Given the description of an element on the screen output the (x, y) to click on. 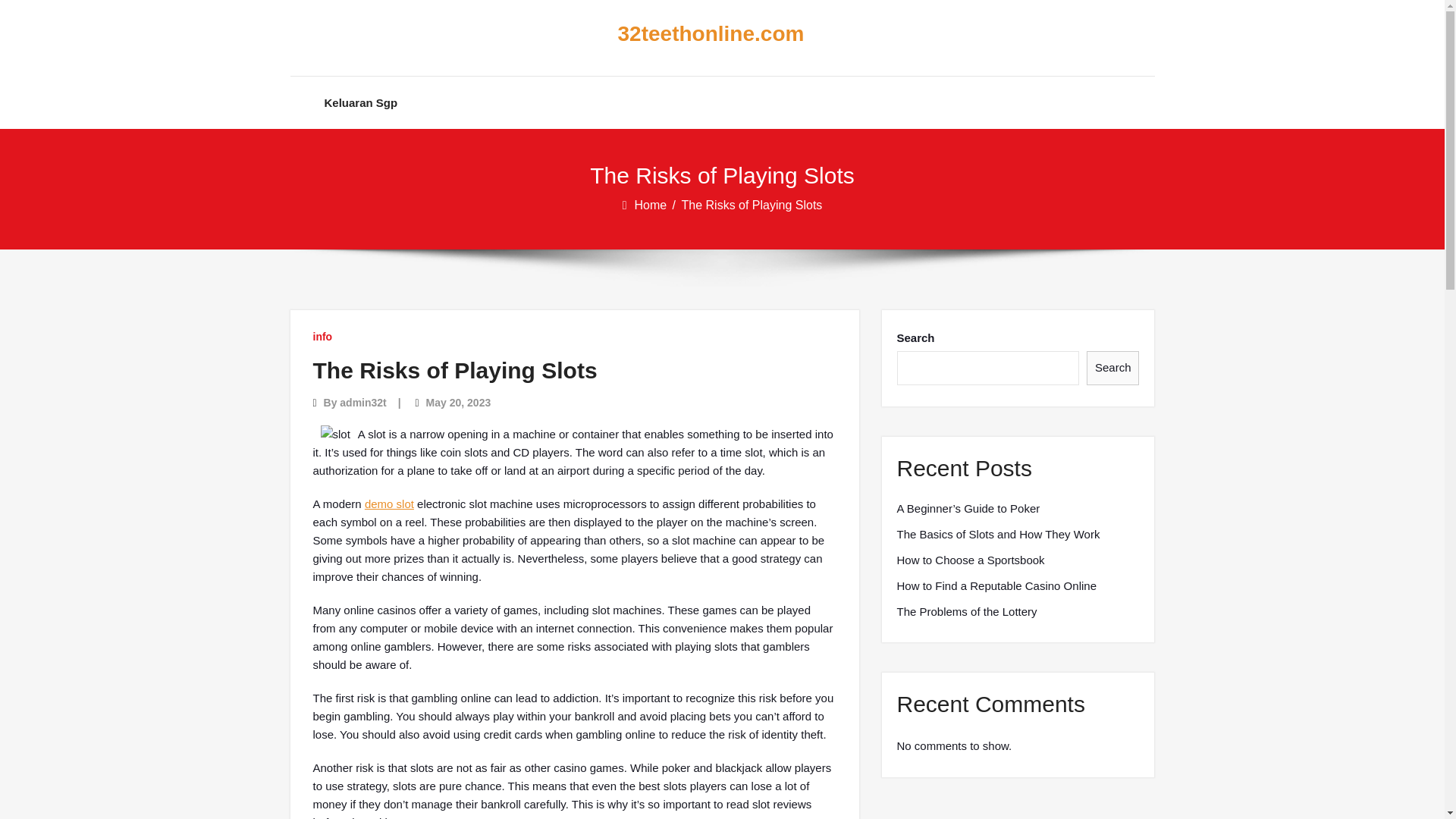
The Basics of Slots and How They Work (997, 534)
info (322, 336)
Keluaran Sgp (360, 102)
32teethonline.com (710, 34)
How to Find a Reputable Casino Online (996, 586)
The Problems of the Lottery (966, 611)
Search (1113, 367)
Home (650, 205)
How to Choose a Sportsbook (969, 560)
May 20, 2023 (459, 402)
demo slot (389, 503)
admin32t (362, 402)
